Given the description of an element on the screen output the (x, y) to click on. 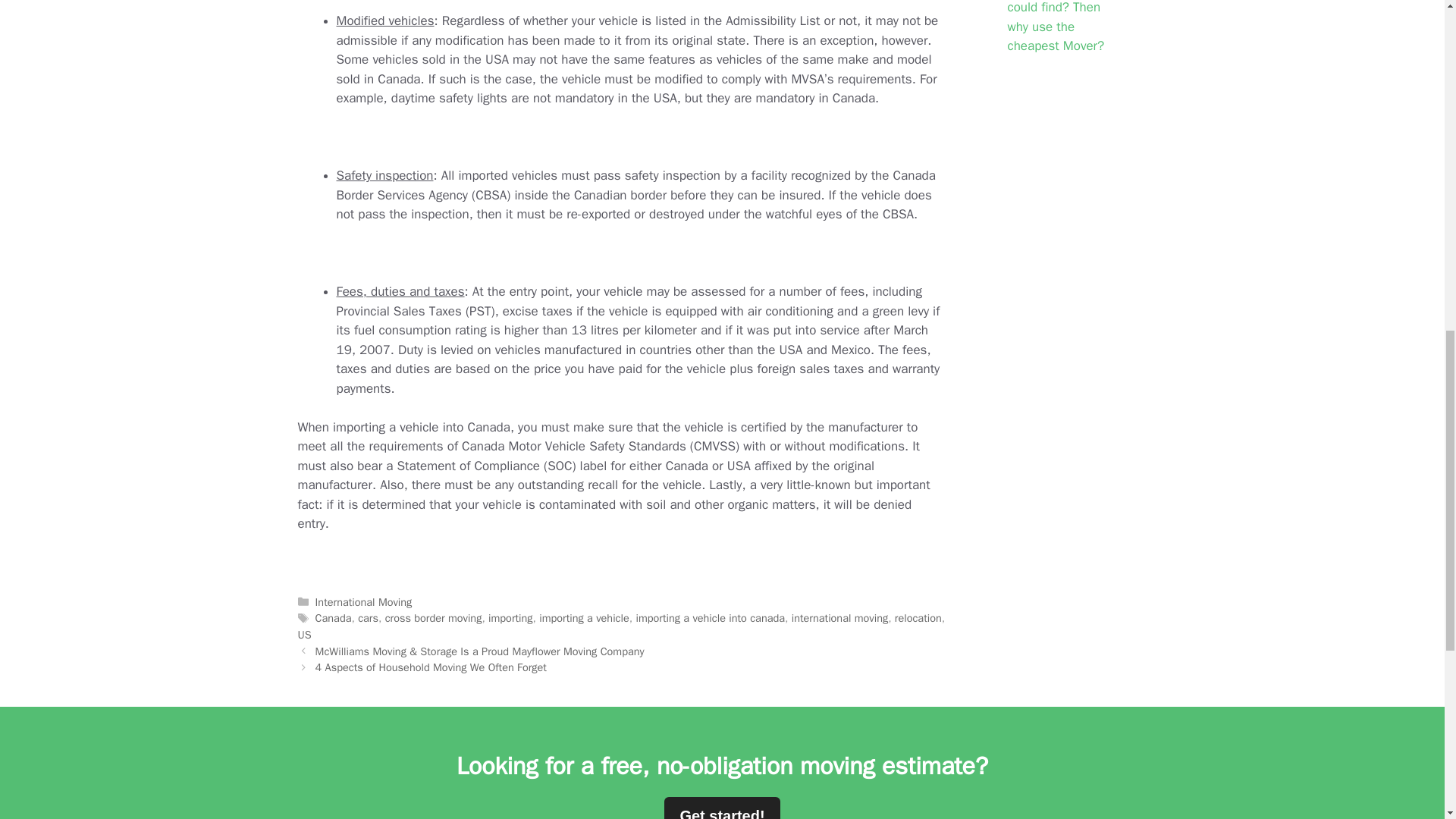
Scroll back to top (1406, 720)
